Given the description of an element on the screen output the (x, y) to click on. 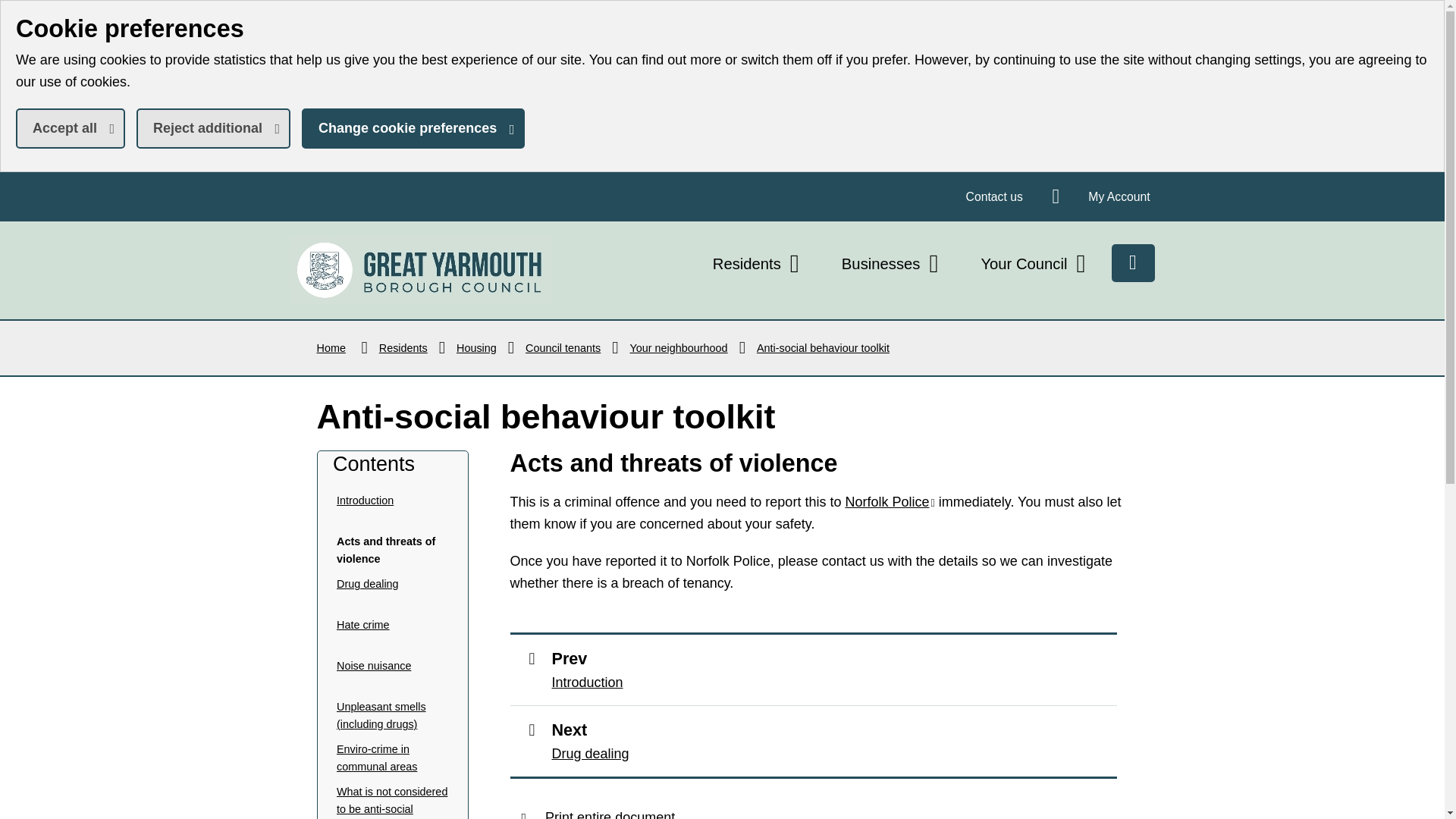
Skip to main content (11, 11)
My Account (1119, 196)
Residents (757, 263)
Change cookie preferences (412, 128)
Reject additional (212, 128)
Contact us (420, 270)
Accept all (994, 196)
